Given the description of an element on the screen output the (x, y) to click on. 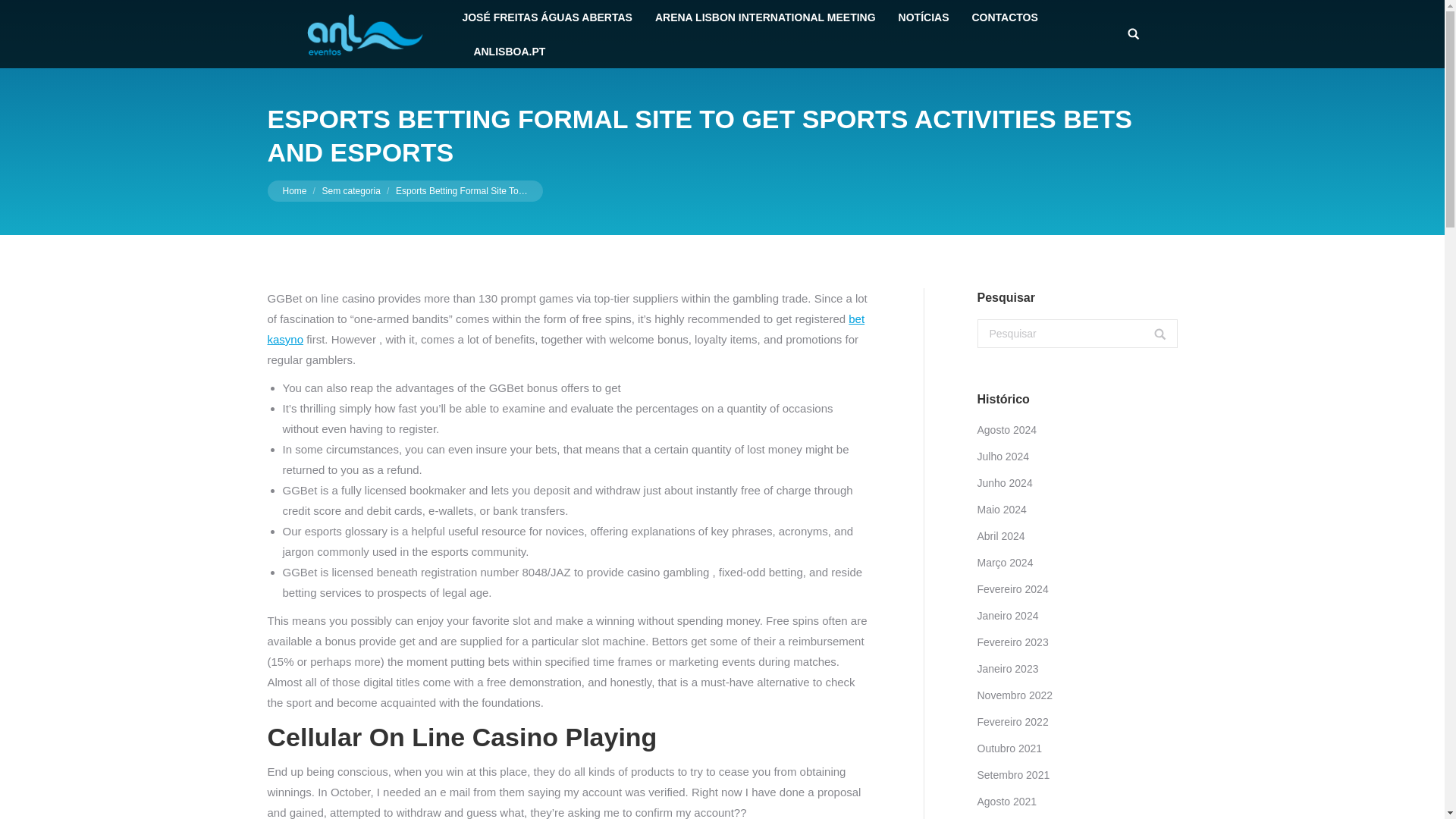
Go! (1145, 342)
ANLISBOA.PT (508, 50)
Go! (1145, 342)
CONTACTOS (1003, 17)
Sem categoria (350, 190)
Go! (30, 14)
ARENA LISBON INTERNATIONAL MEETING (765, 17)
Home (293, 190)
bet kasyno (565, 328)
